Given the description of an element on the screen output the (x, y) to click on. 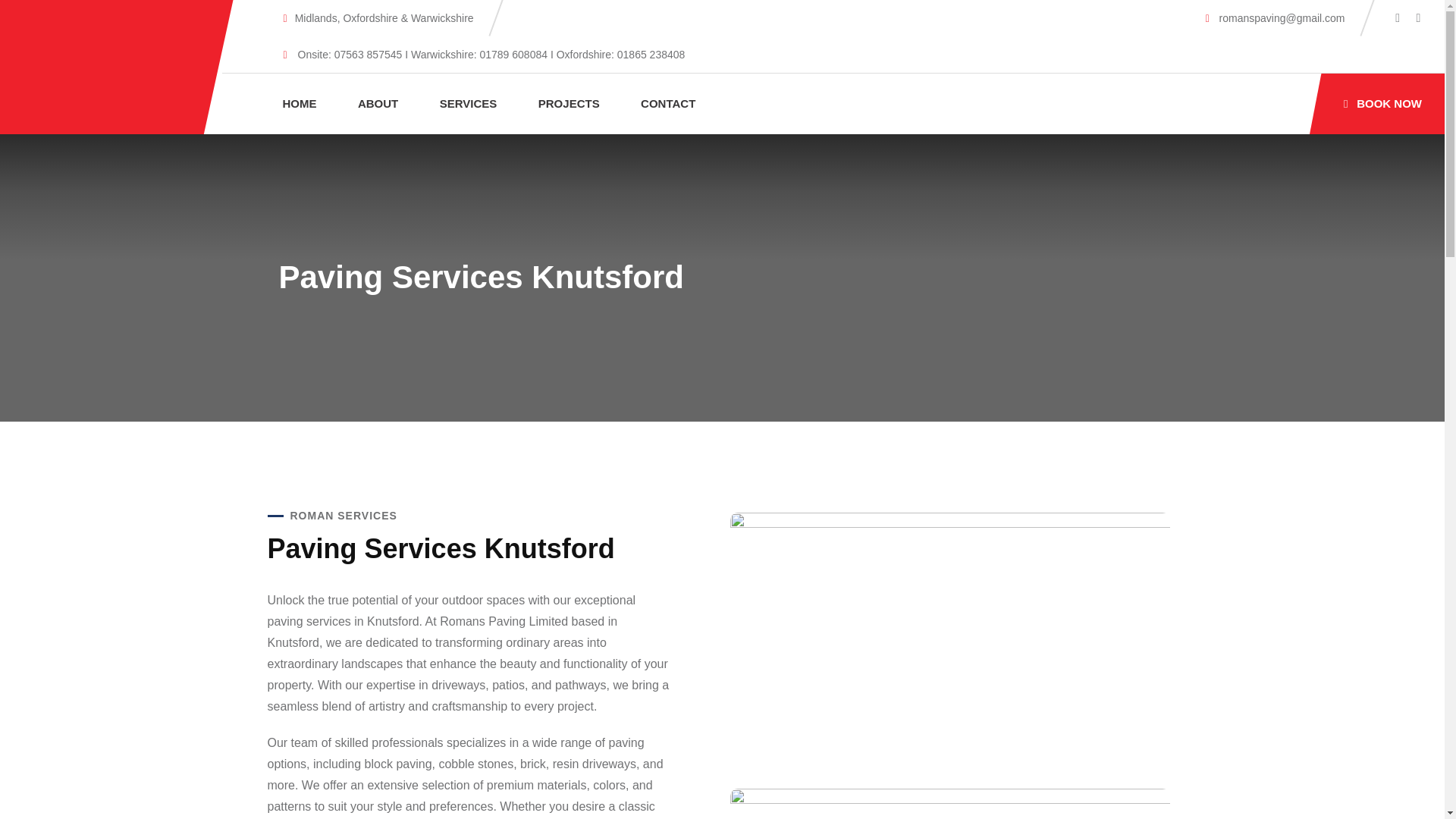
PROJECTS (569, 103)
SERVICES (468, 103)
HOME (299, 103)
ABOUT (377, 103)
